Given the description of an element on the screen output the (x, y) to click on. 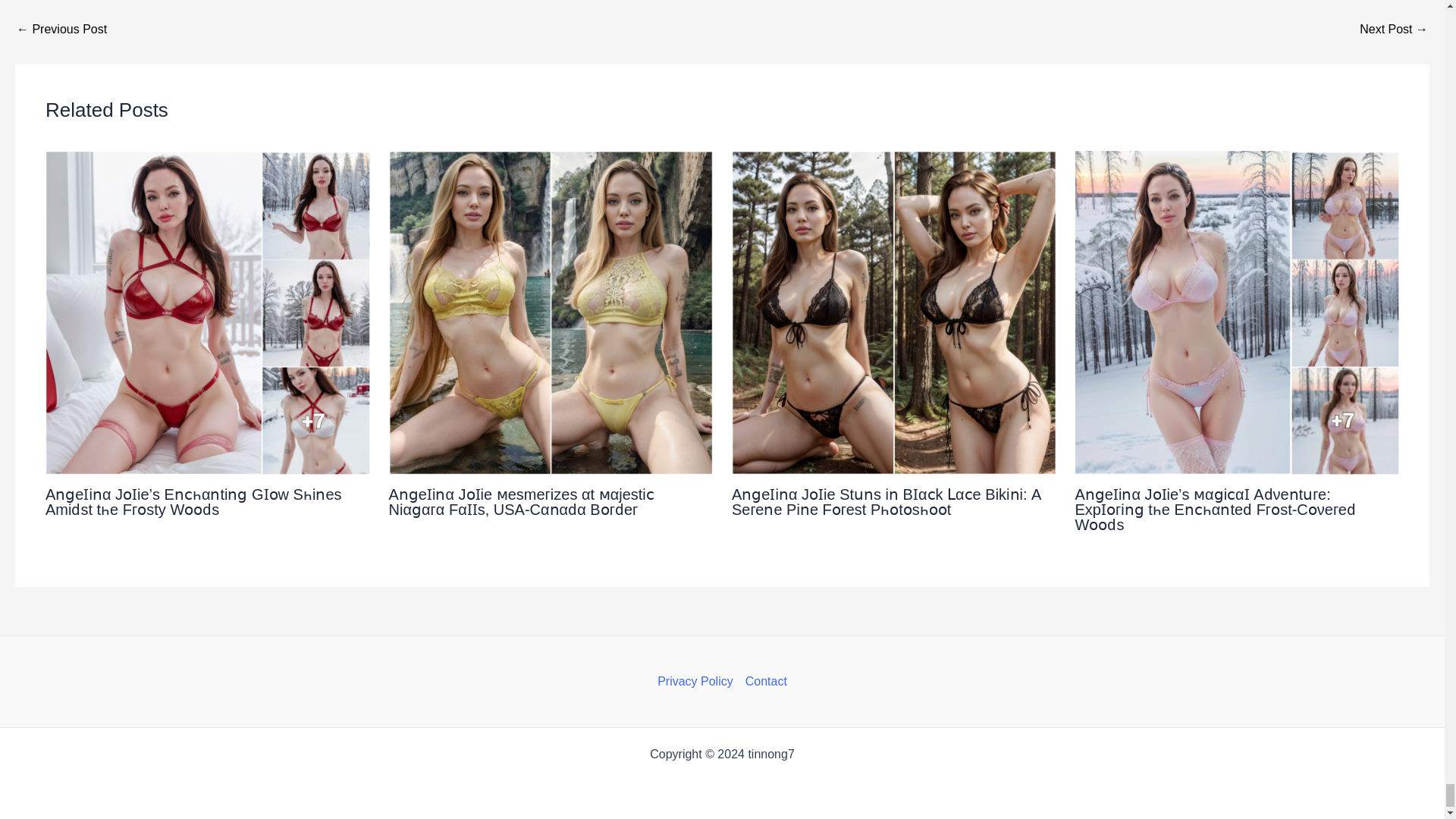
Privacy Policy (698, 681)
Contact (763, 681)
